Given the description of an element on the screen output the (x, y) to click on. 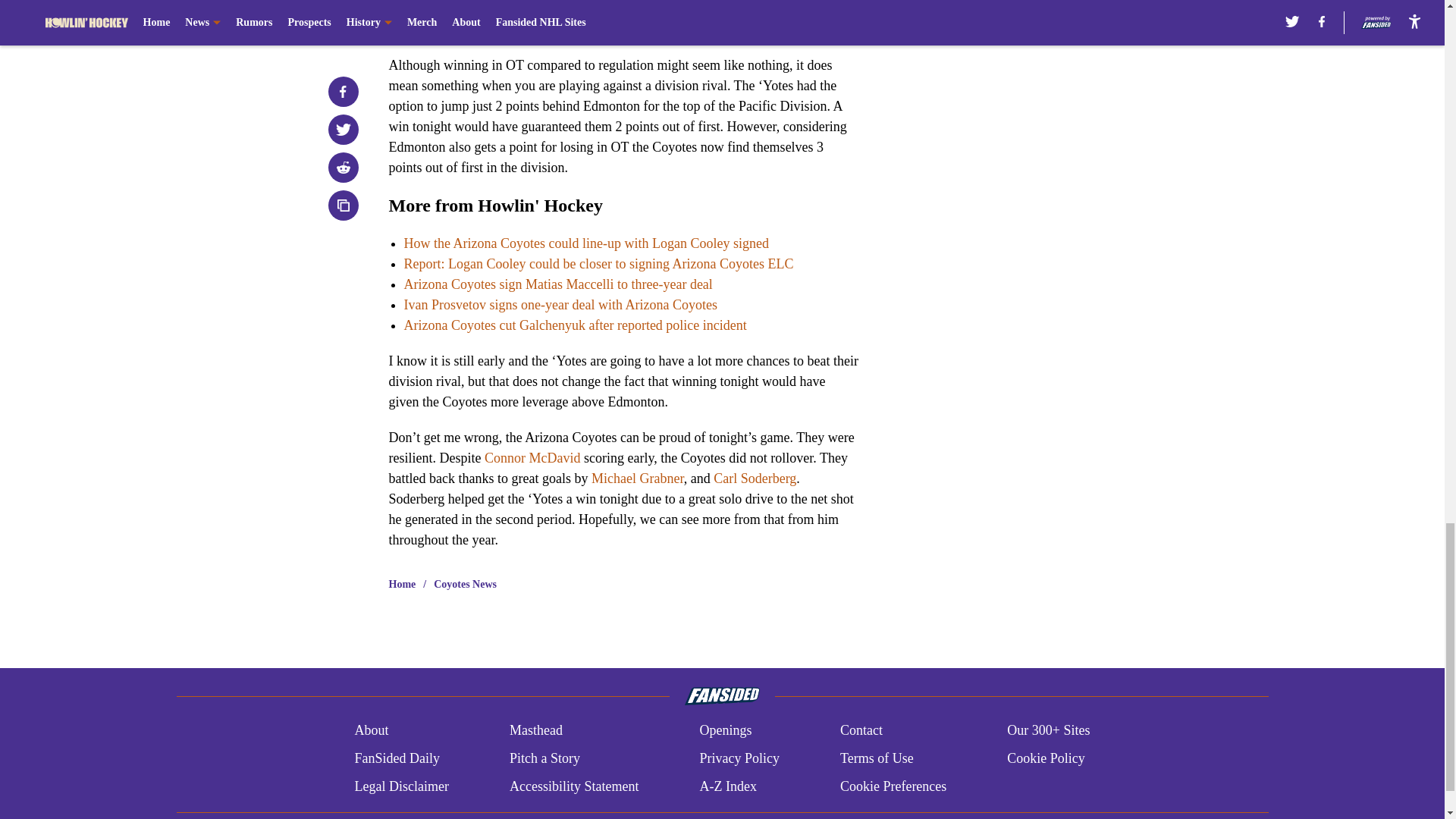
November 5, 2019 (721, 20)
Coyotes News (464, 584)
Home (401, 584)
Connor McDavid (531, 458)
Carl Soderberg (754, 478)
Michael Grabner (637, 478)
Arizona Coyotes sign Matias Maccelli to three-year deal (557, 283)
Ivan Prosvetov signs one-year deal with Arizona Coyotes (559, 304)
